Given the description of an element on the screen output the (x, y) to click on. 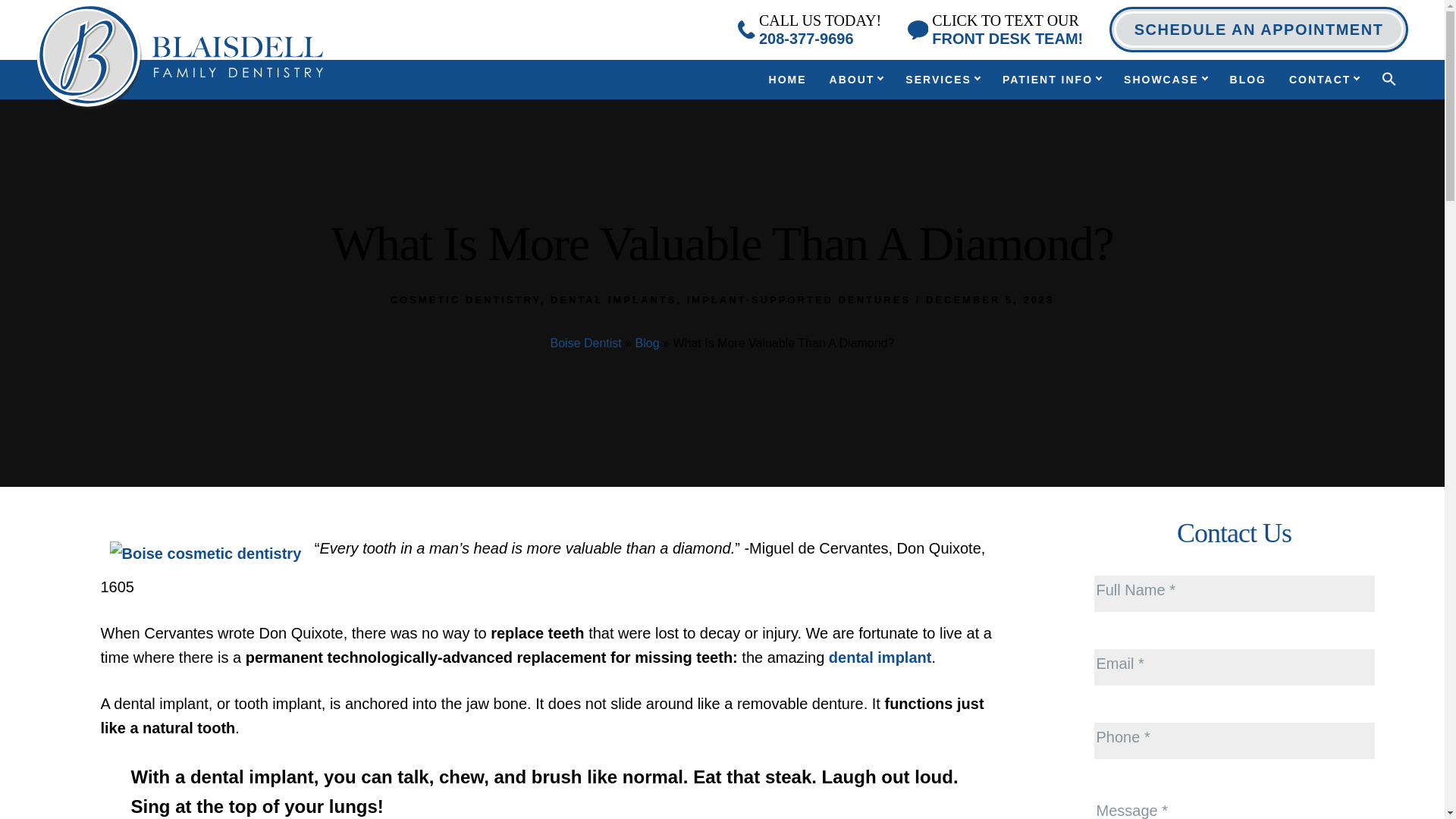
SERVICES (942, 79)
ABOUT (995, 29)
Boise Dental Implant (856, 79)
Boise dental implants (879, 657)
SCHEDULE AN APPOINTMENT (809, 29)
HOME (205, 547)
Skip to content (1259, 29)
